Given the description of an element on the screen output the (x, y) to click on. 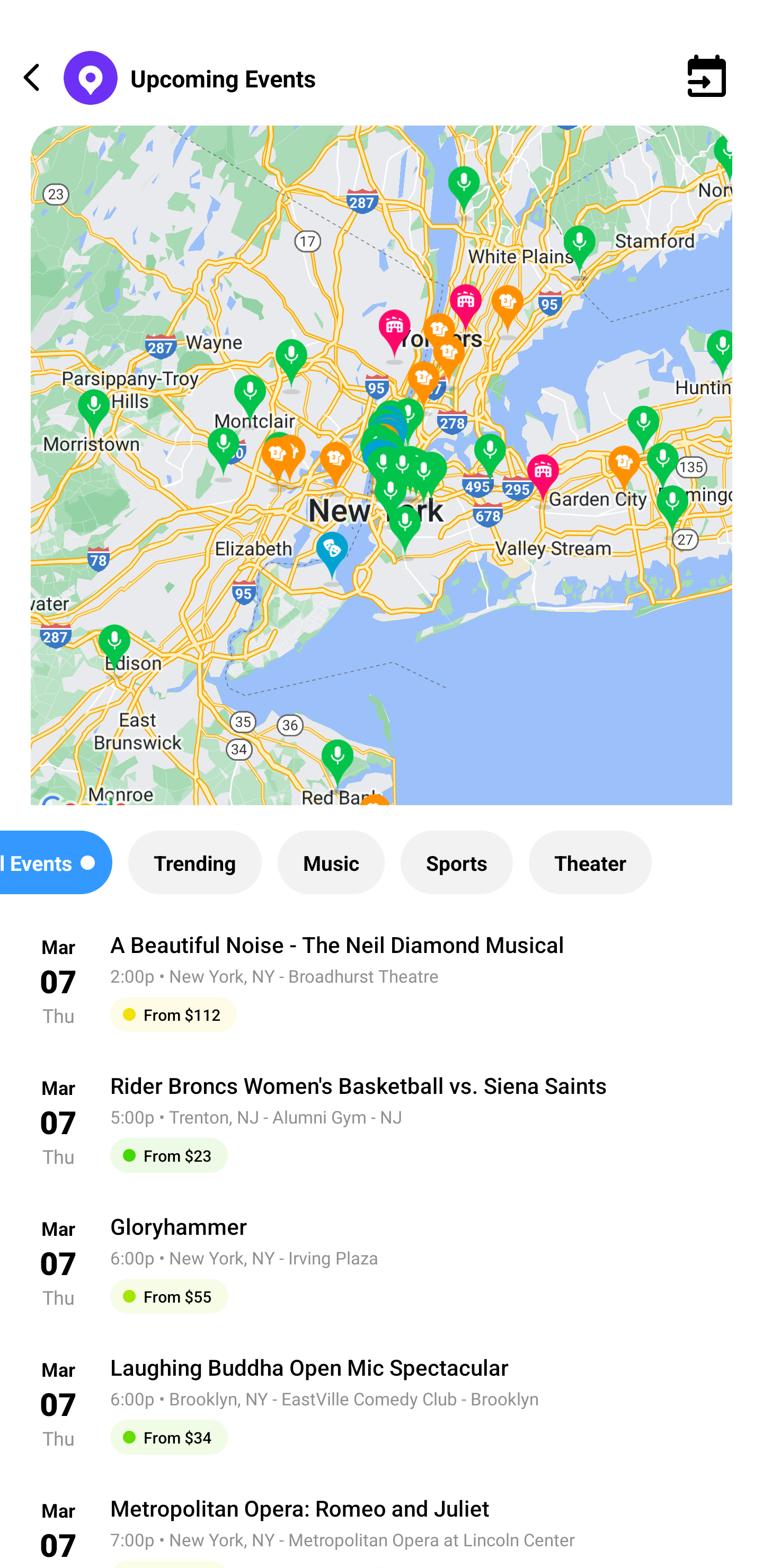
Trending (194, 862)
Music (330, 862)
Sports (456, 862)
Theater (589, 862)
